Given the description of an element on the screen output the (x, y) to click on. 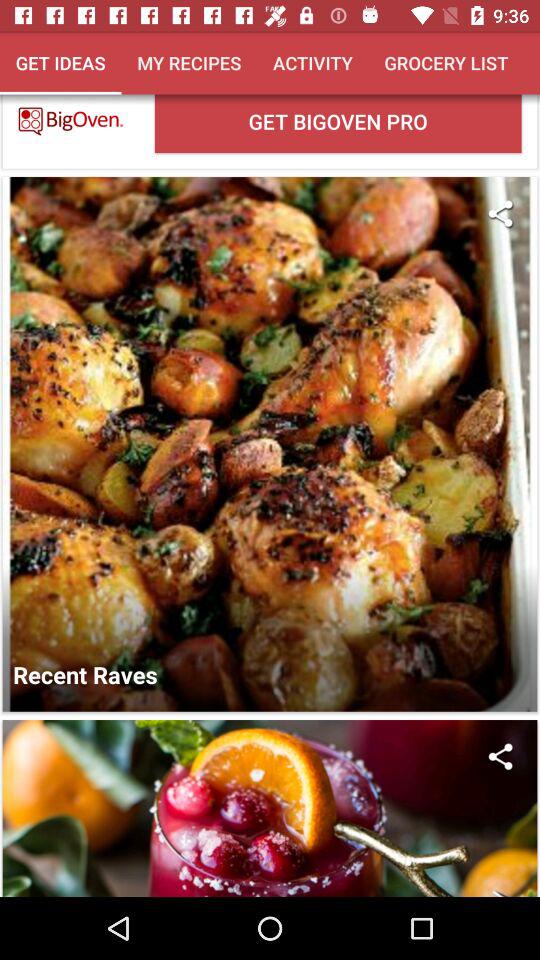
image click option (269, 808)
